Given the description of an element on the screen output the (x, y) to click on. 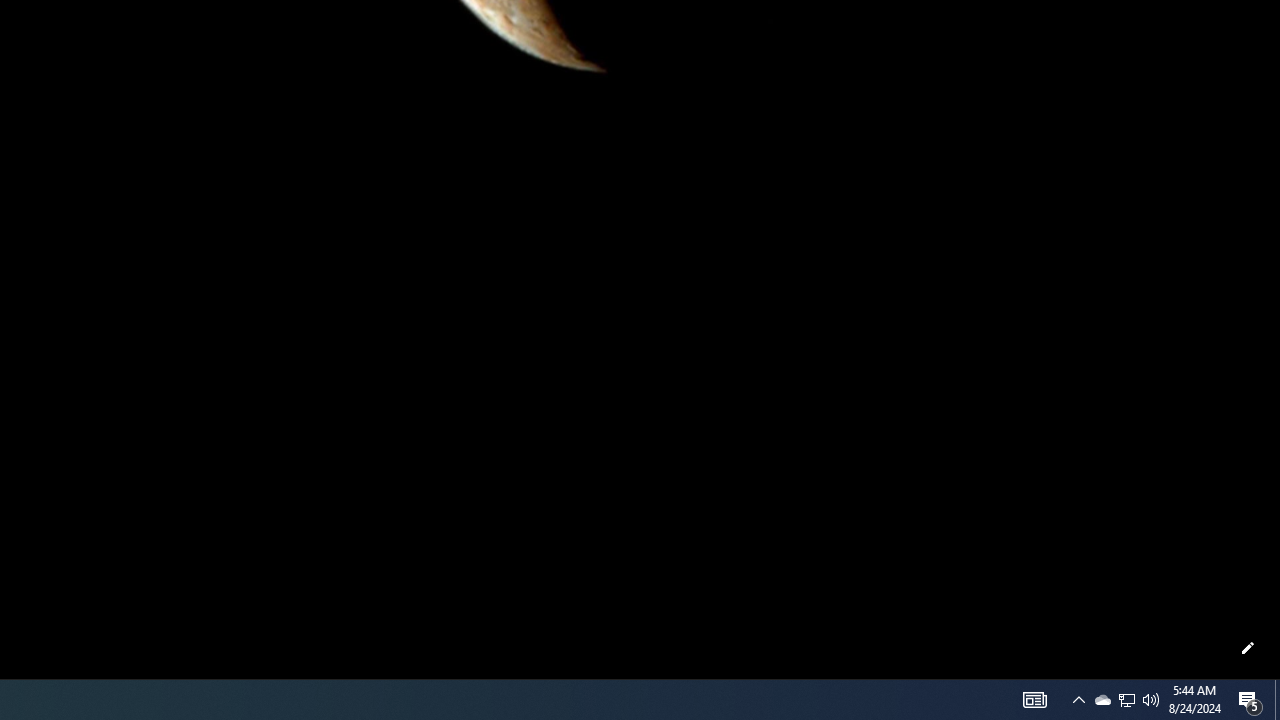
Customize this page (1247, 647)
